Given the description of an element on the screen output the (x, y) to click on. 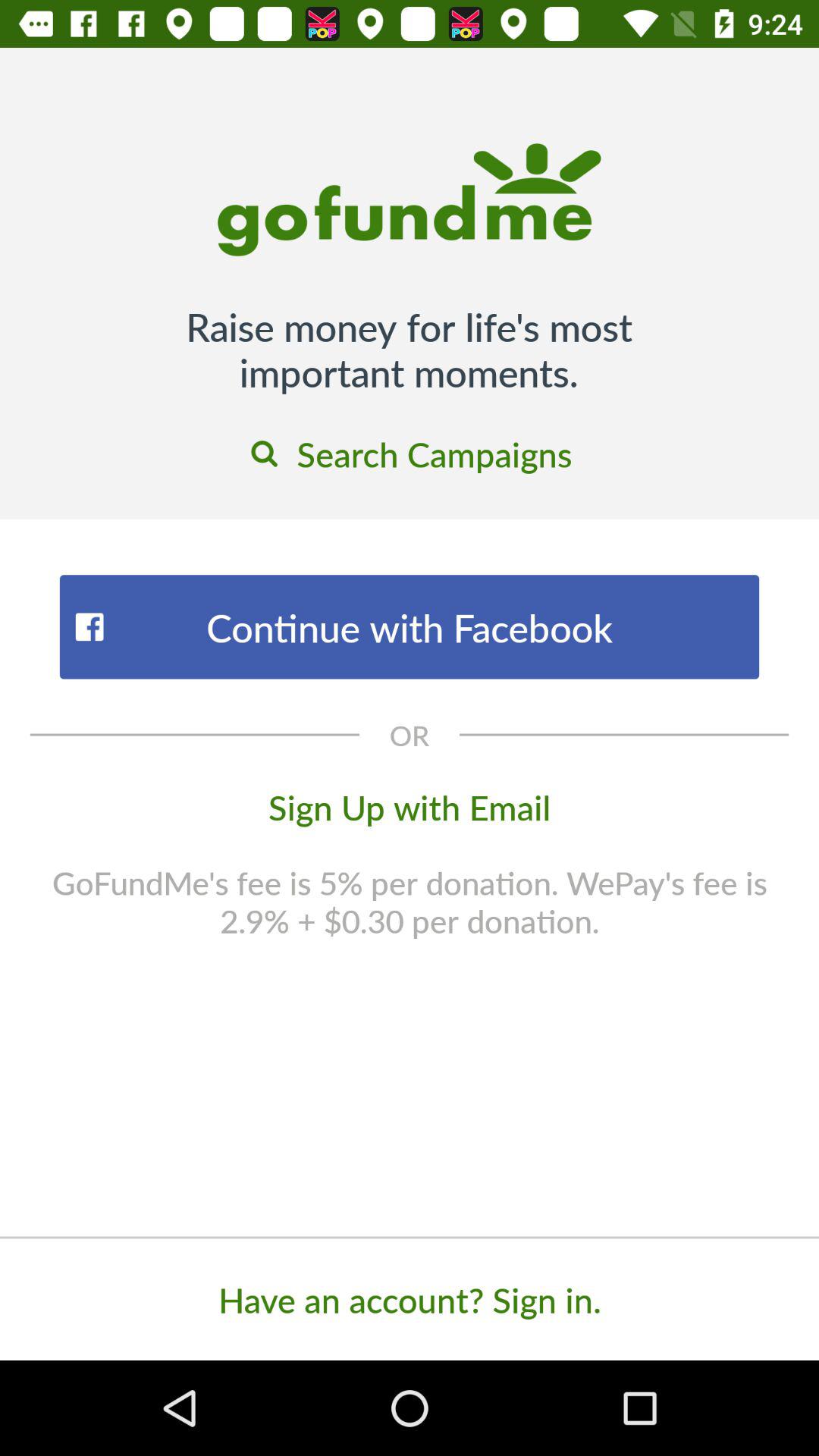
flip until continue with facebook item (409, 627)
